Given the description of an element on the screen output the (x, y) to click on. 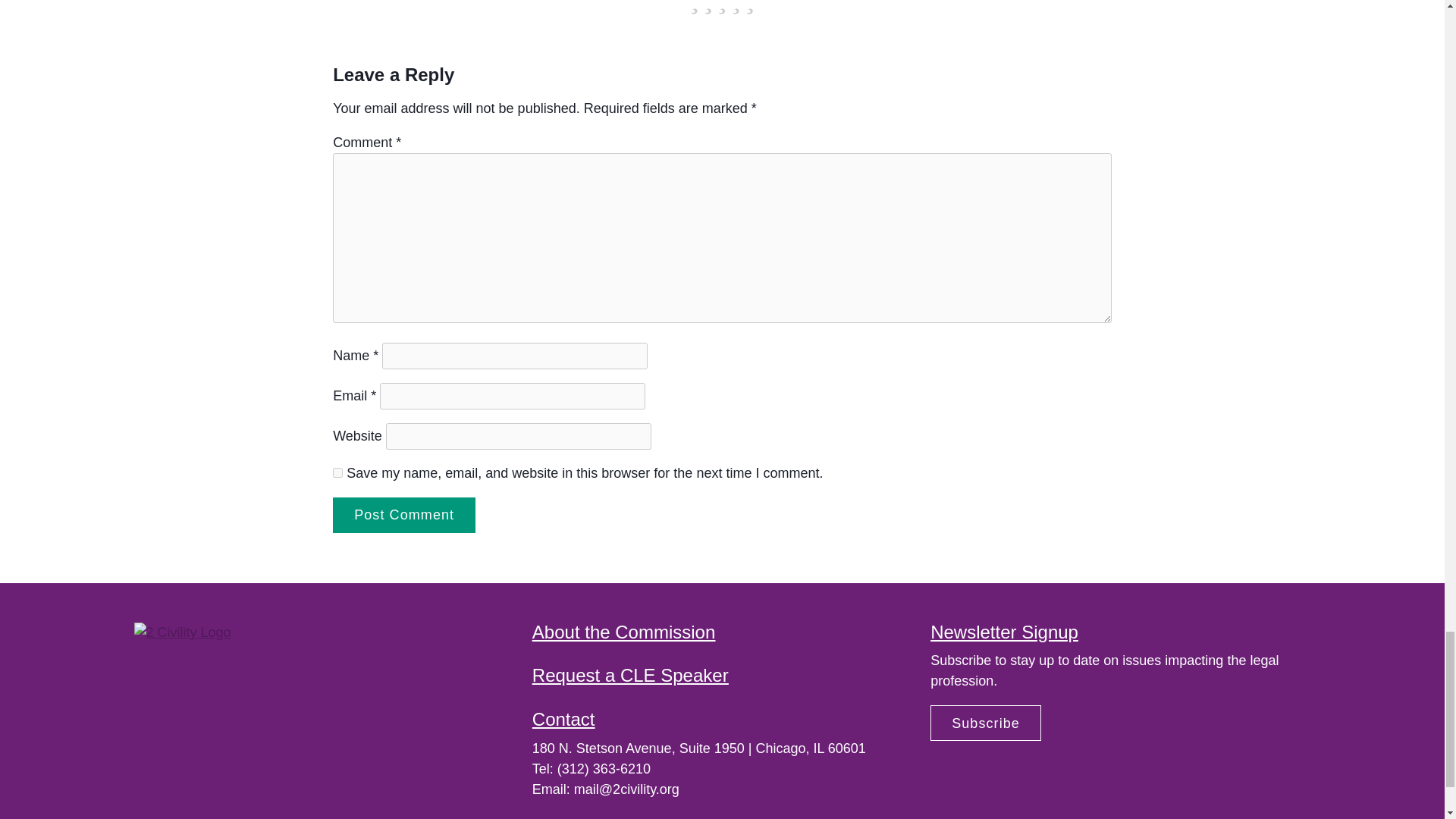
Post Comment (404, 515)
yes (337, 472)
Post Comment (404, 515)
